Given the description of an element on the screen output the (x, y) to click on. 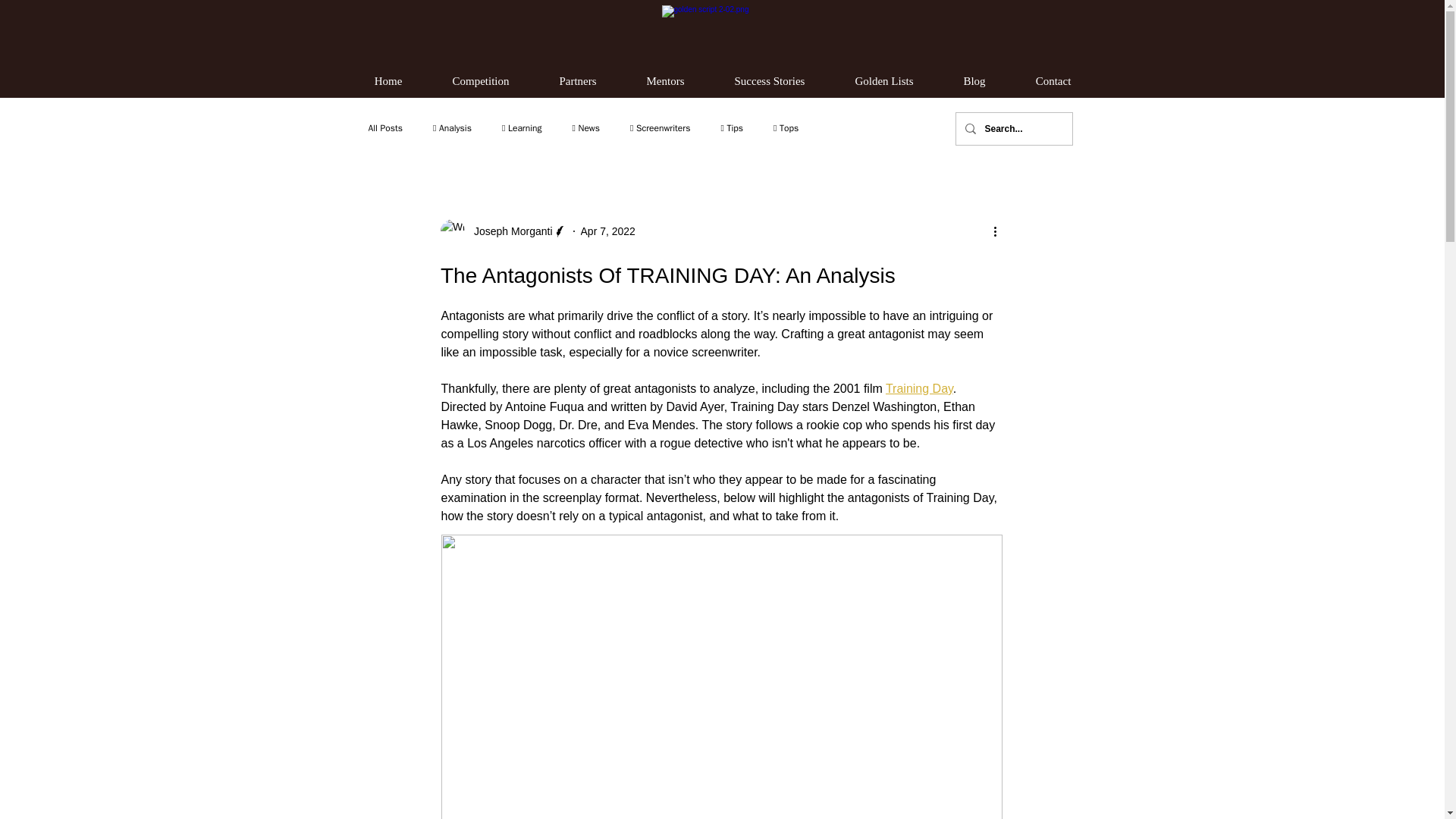
Training Day (918, 388)
Joseph Morganti (508, 230)
Mentors (665, 81)
Contact (1053, 81)
Success Stories (769, 81)
Apr 7, 2022 (607, 230)
Home (387, 81)
Partners (577, 81)
All Posts (385, 127)
Competition (481, 81)
